Given the description of an element on the screen output the (x, y) to click on. 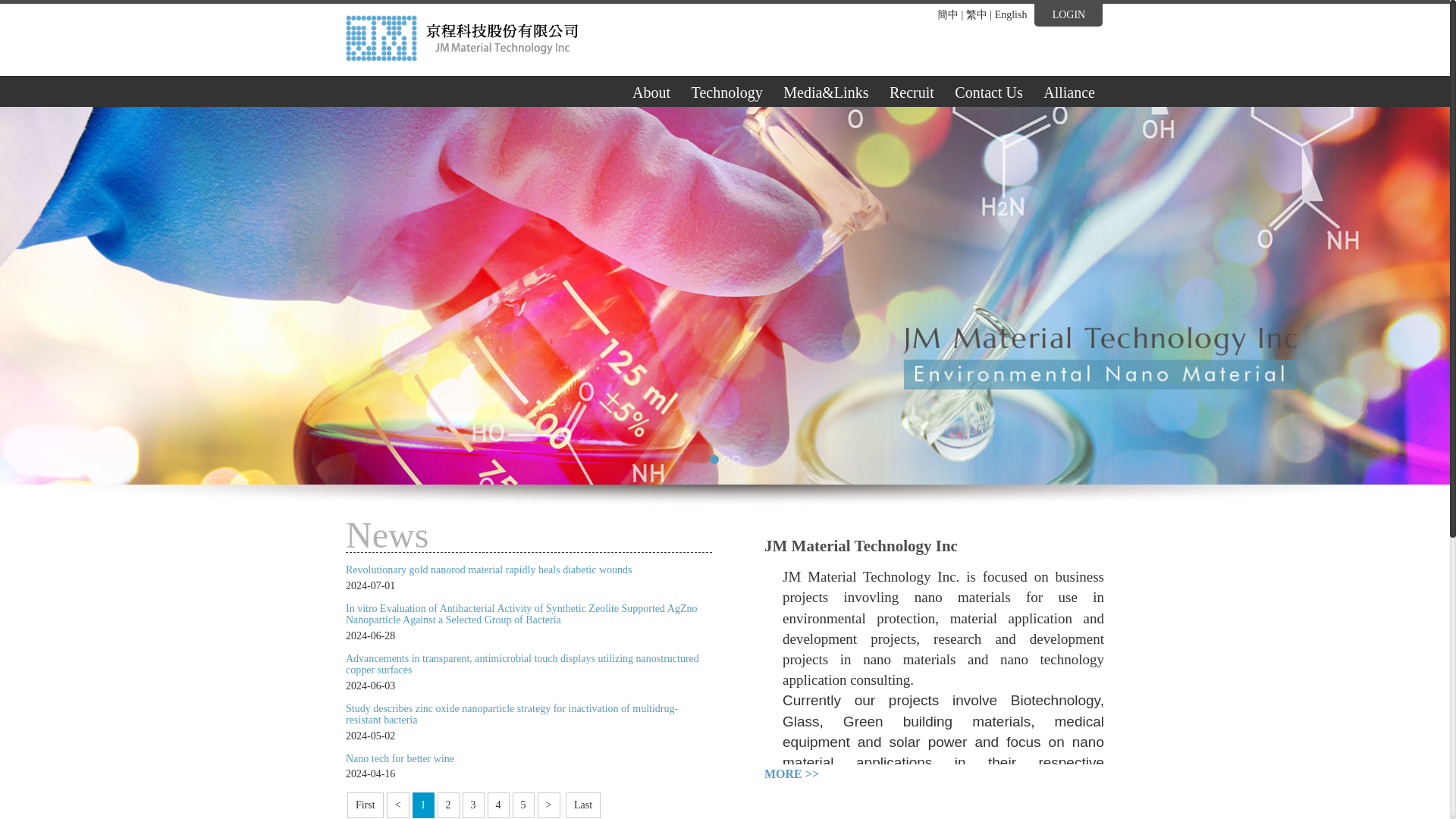
3 (735, 459)
Contact Us (987, 91)
2 (725, 459)
English (1010, 14)
Alliance (1068, 91)
1 (714, 459)
About (651, 91)
Recruit (911, 91)
Technology (726, 91)
LOGIN (1067, 15)
